Given the description of an element on the screen output the (x, y) to click on. 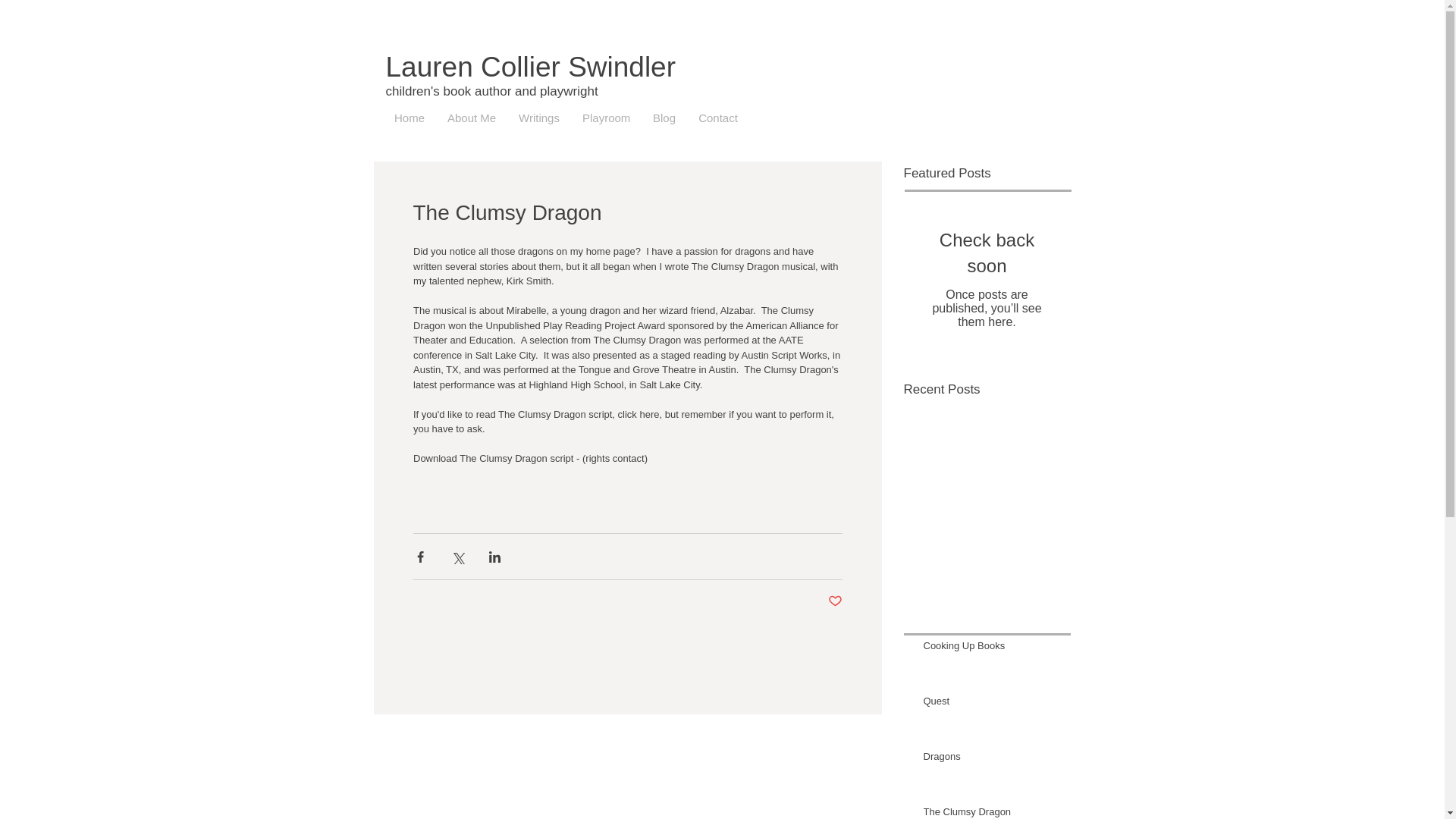
Blog (664, 118)
Lauren Collier Swindler (530, 66)
The Clumsy Dragon (992, 812)
Playroom (606, 118)
About Me (470, 118)
Dragons (992, 759)
Writings (538, 118)
Quest (992, 704)
Home (408, 118)
Post not marked as liked (835, 601)
Contact (718, 118)
Cooking Up Books (992, 649)
